Given the description of an element on the screen output the (x, y) to click on. 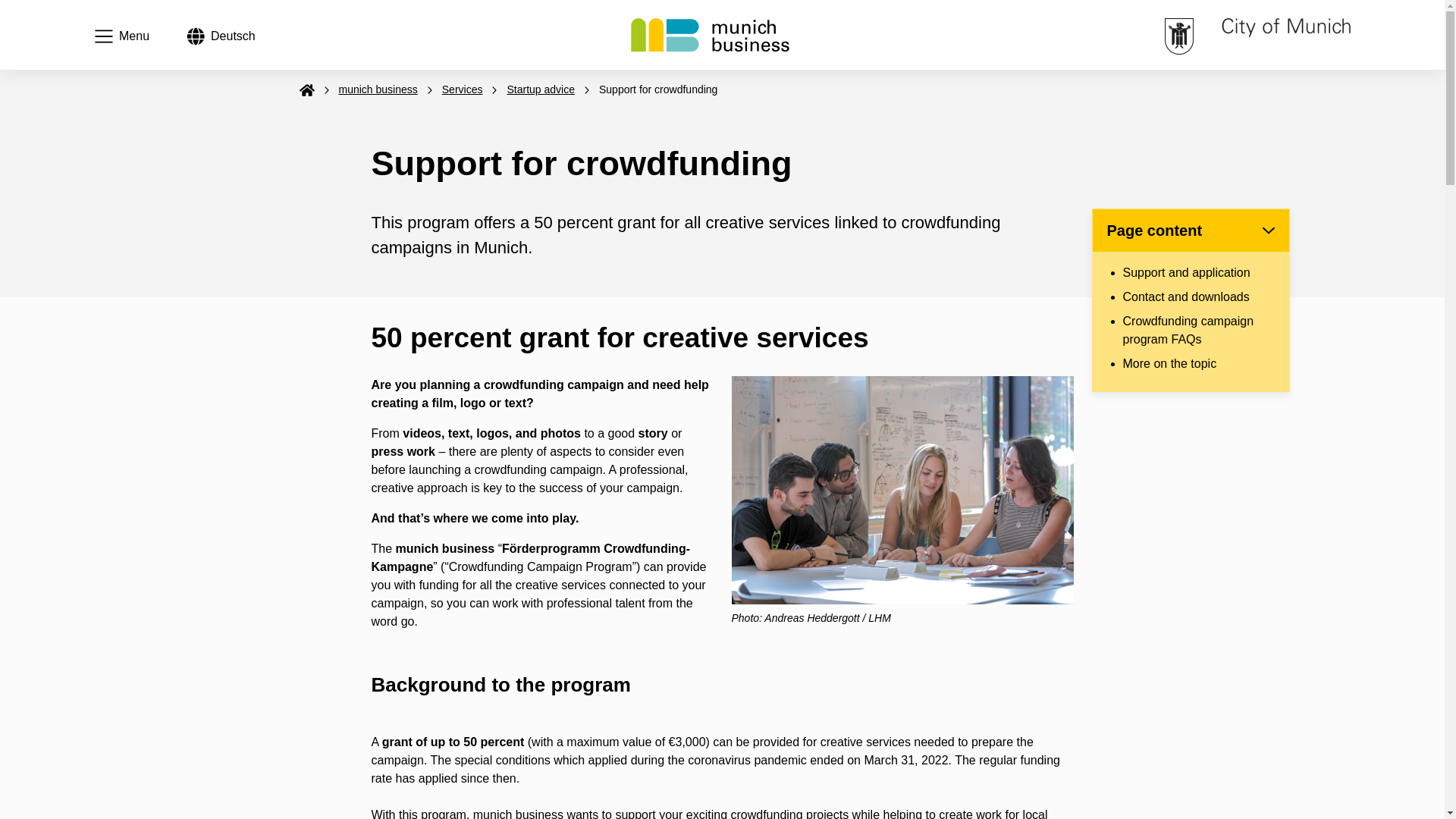
Menu (121, 35)
Business Development munich business (221, 36)
Business Development munich business (709, 34)
